Given the description of an element on the screen output the (x, y) to click on. 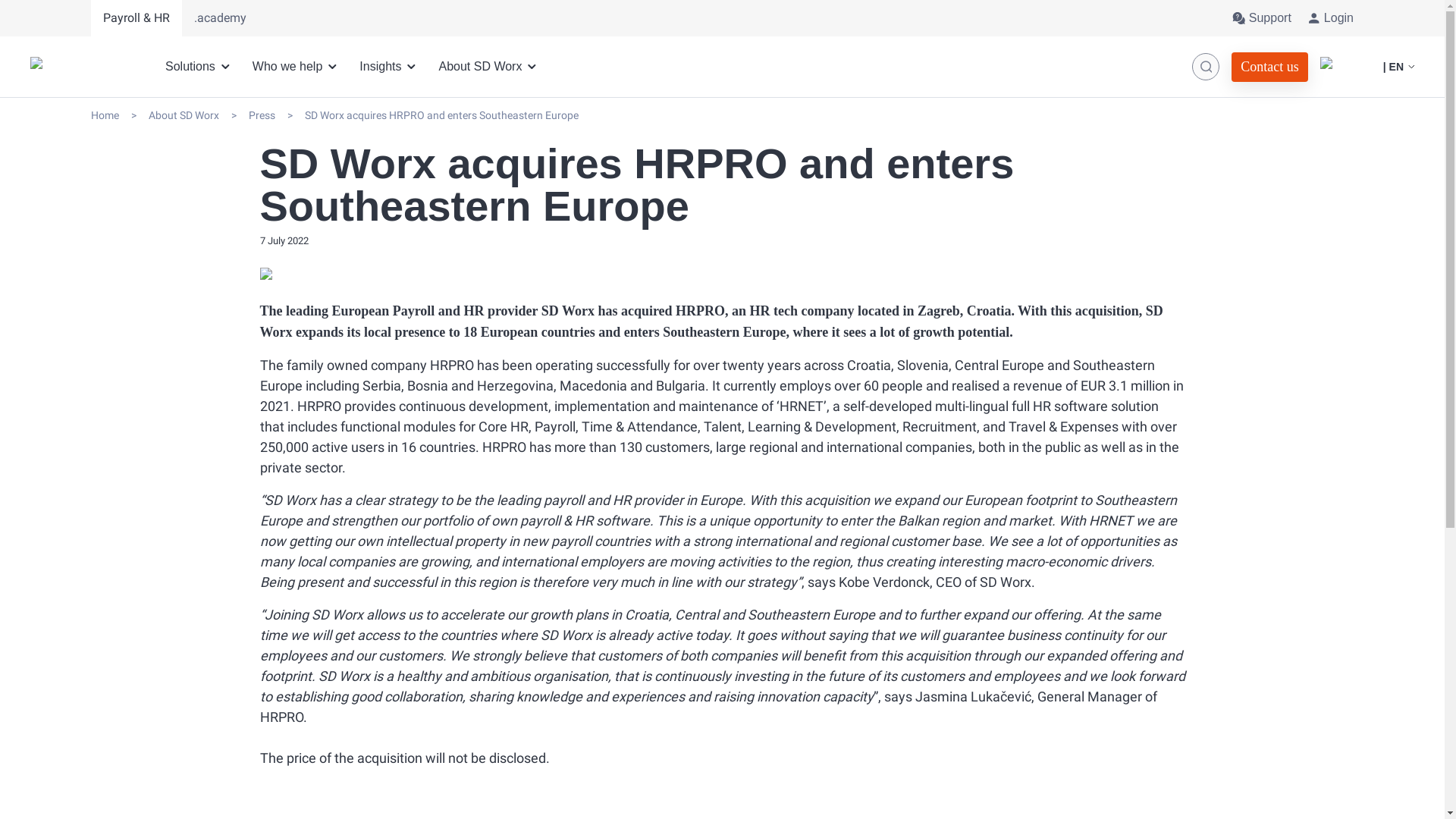
Support (1260, 18)
Login (1330, 18)
Who we help (296, 66)
Search (1206, 66)
Insights (389, 66)
Solutions (199, 66)
.academy (220, 18)
About SD Worx (489, 66)
